Given the description of an element on the screen output the (x, y) to click on. 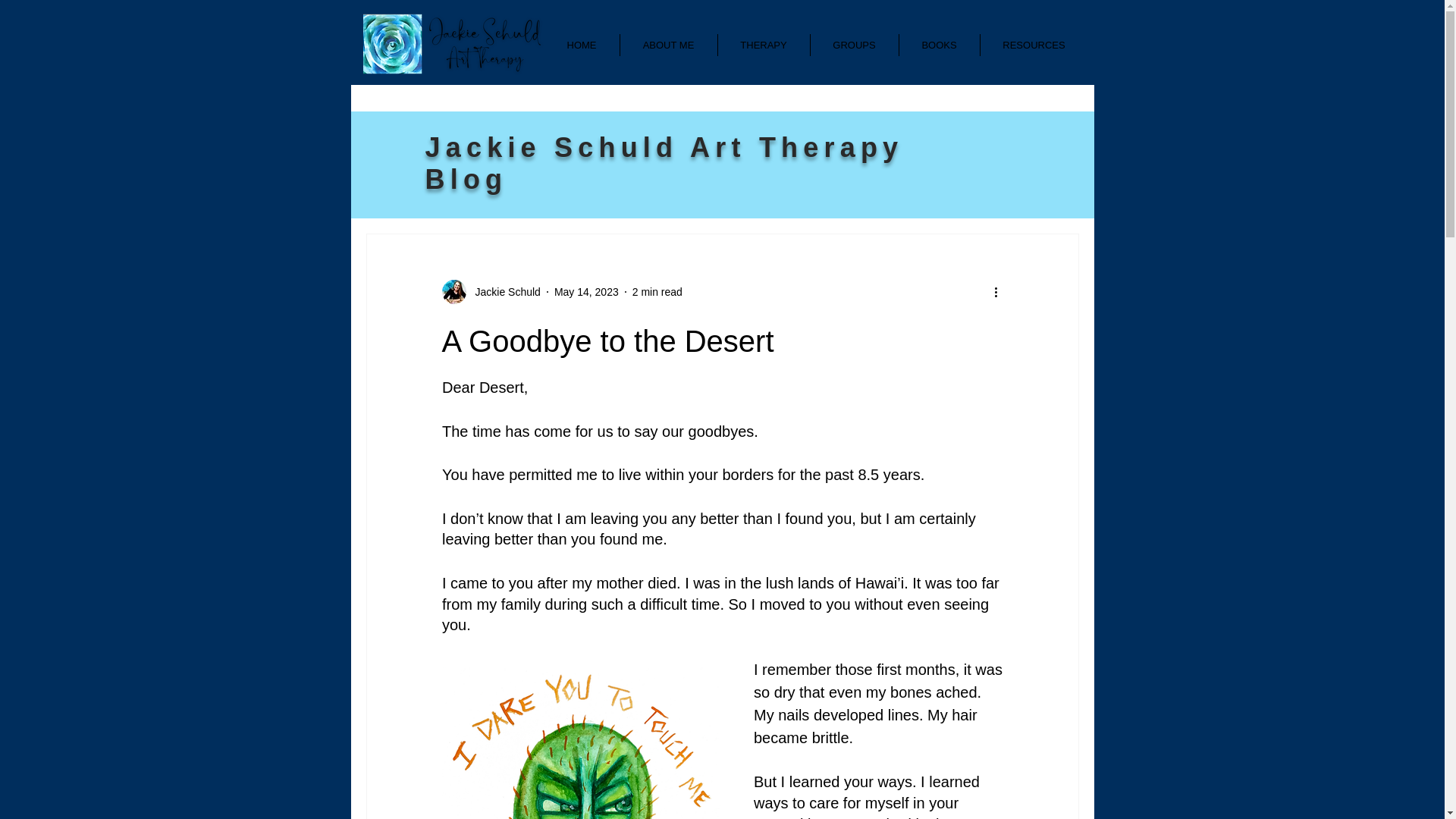
RESOURCES (1033, 45)
BOOKS (939, 45)
HOME (582, 45)
Jackie Schuld (502, 291)
GROUPS (853, 45)
Jackie Schuld (490, 291)
May 14, 2023 (586, 291)
2 min read (656, 291)
THERAPY (763, 45)
ABOUT ME (668, 45)
